Given the description of an element on the screen output the (x, y) to click on. 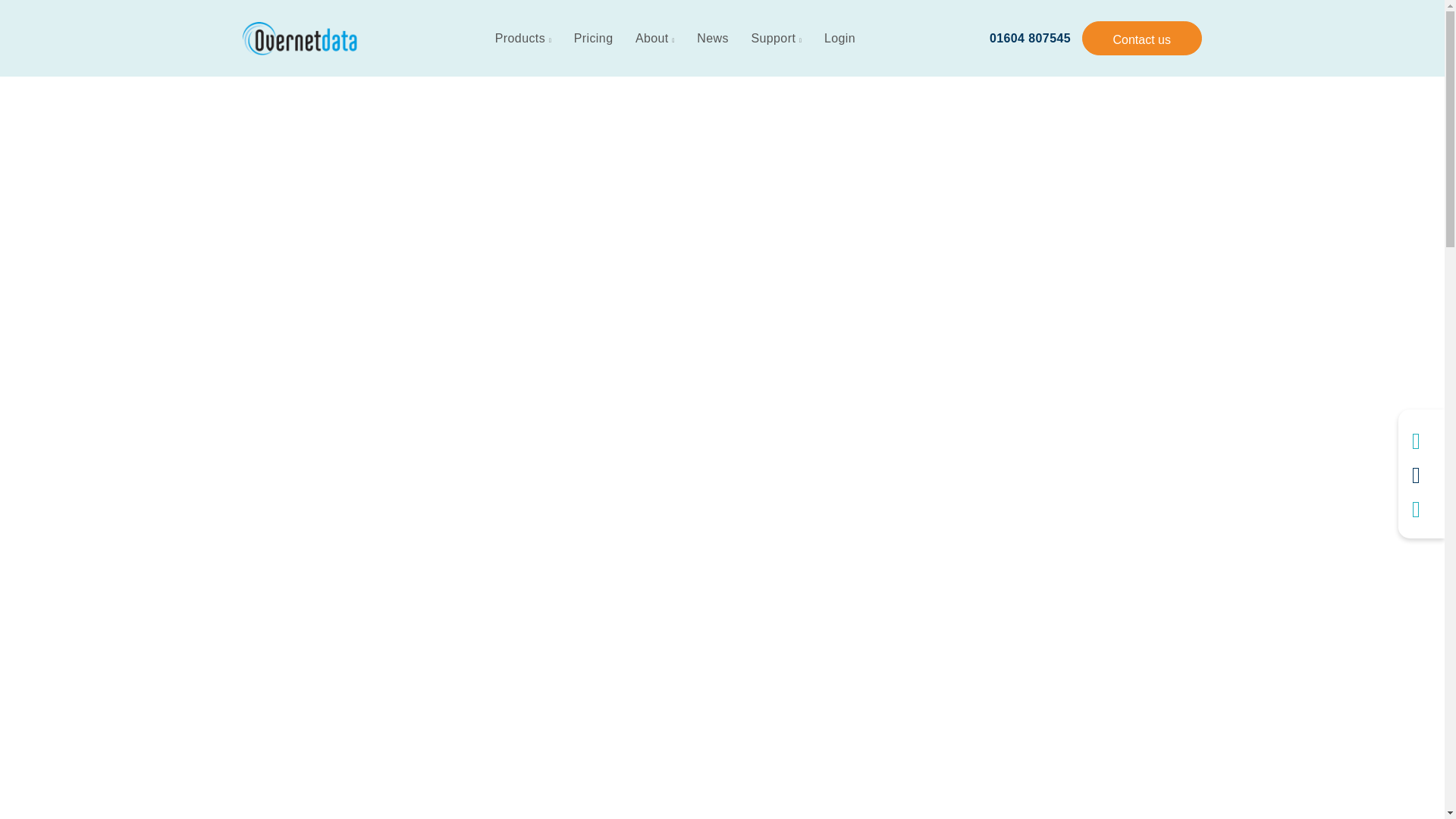
Login (838, 38)
About (654, 38)
Products (523, 38)
01604 807545 (1030, 38)
Support (776, 38)
Contact us (1141, 38)
Pricing (593, 38)
News (712, 38)
